Given the description of an element on the screen output the (x, y) to click on. 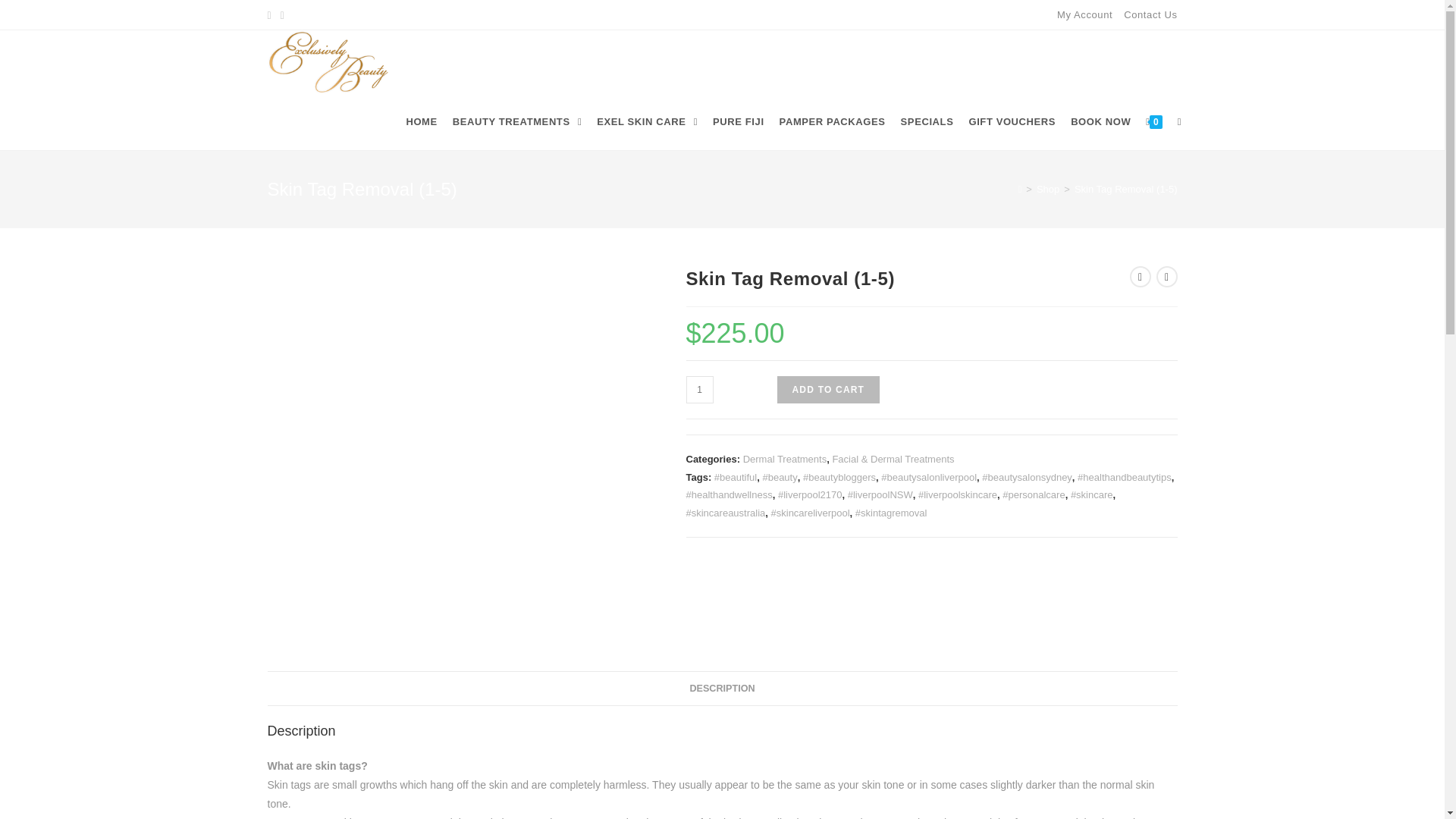
My Account (1084, 14)
BEAUTY TREATMENTS (517, 121)
EXEL SKIN CARE (646, 121)
Contact Us (1150, 14)
1 (699, 389)
